Given the description of an element on the screen output the (x, y) to click on. 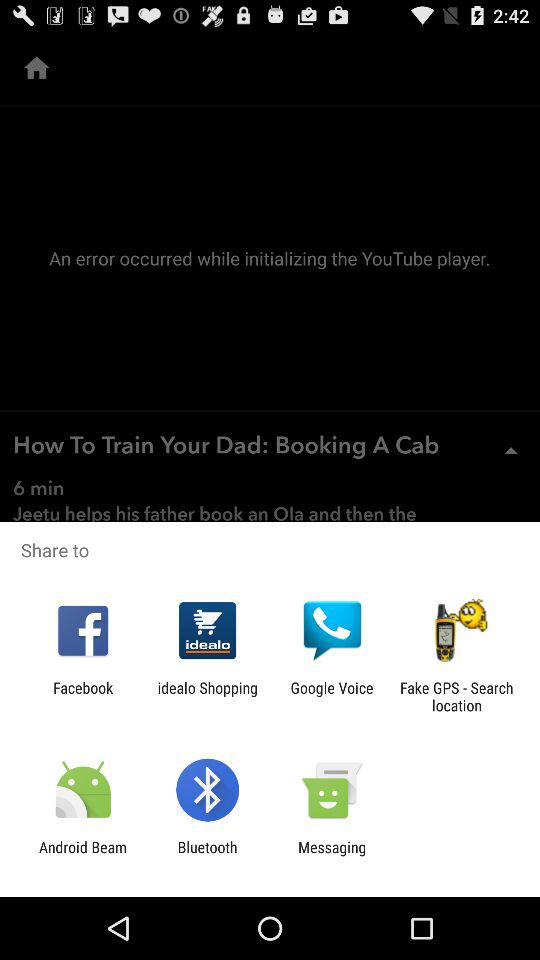
select the app to the right of the android beam icon (207, 856)
